Given the description of an element on the screen output the (x, y) to click on. 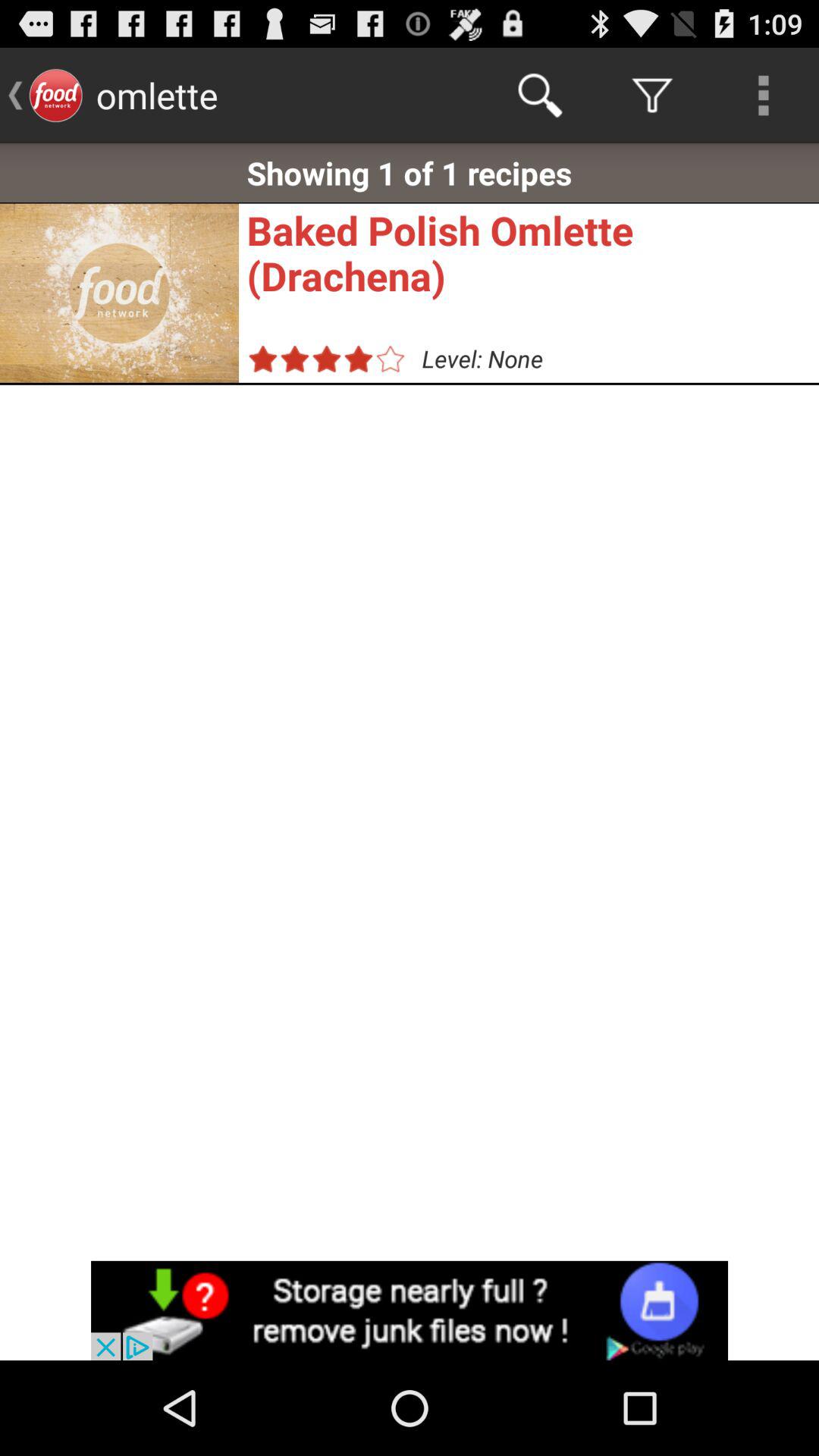
learn about this product (409, 1310)
